Given the description of an element on the screen output the (x, y) to click on. 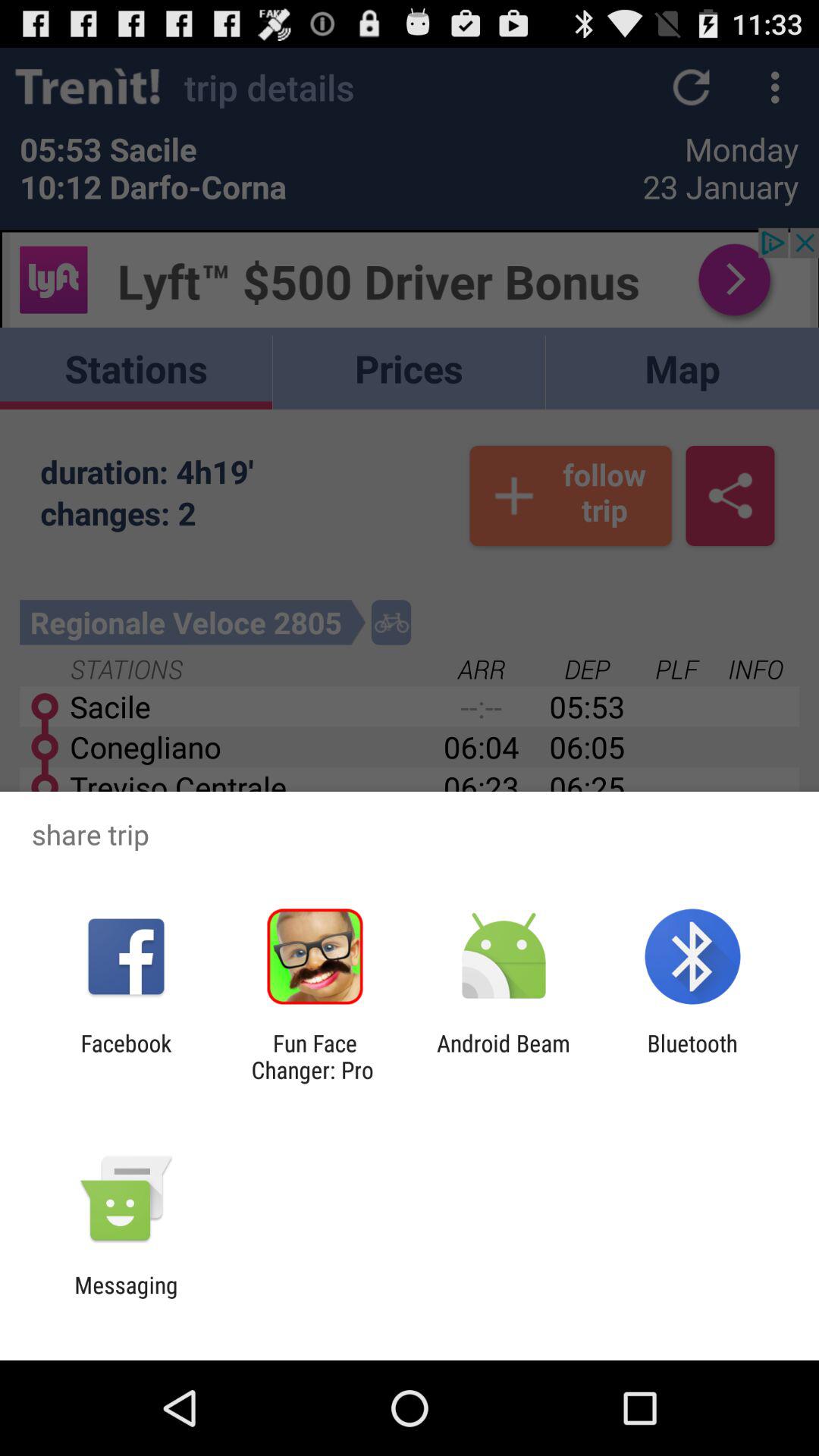
select the facebook icon (125, 1056)
